Given the description of an element on the screen output the (x, y) to click on. 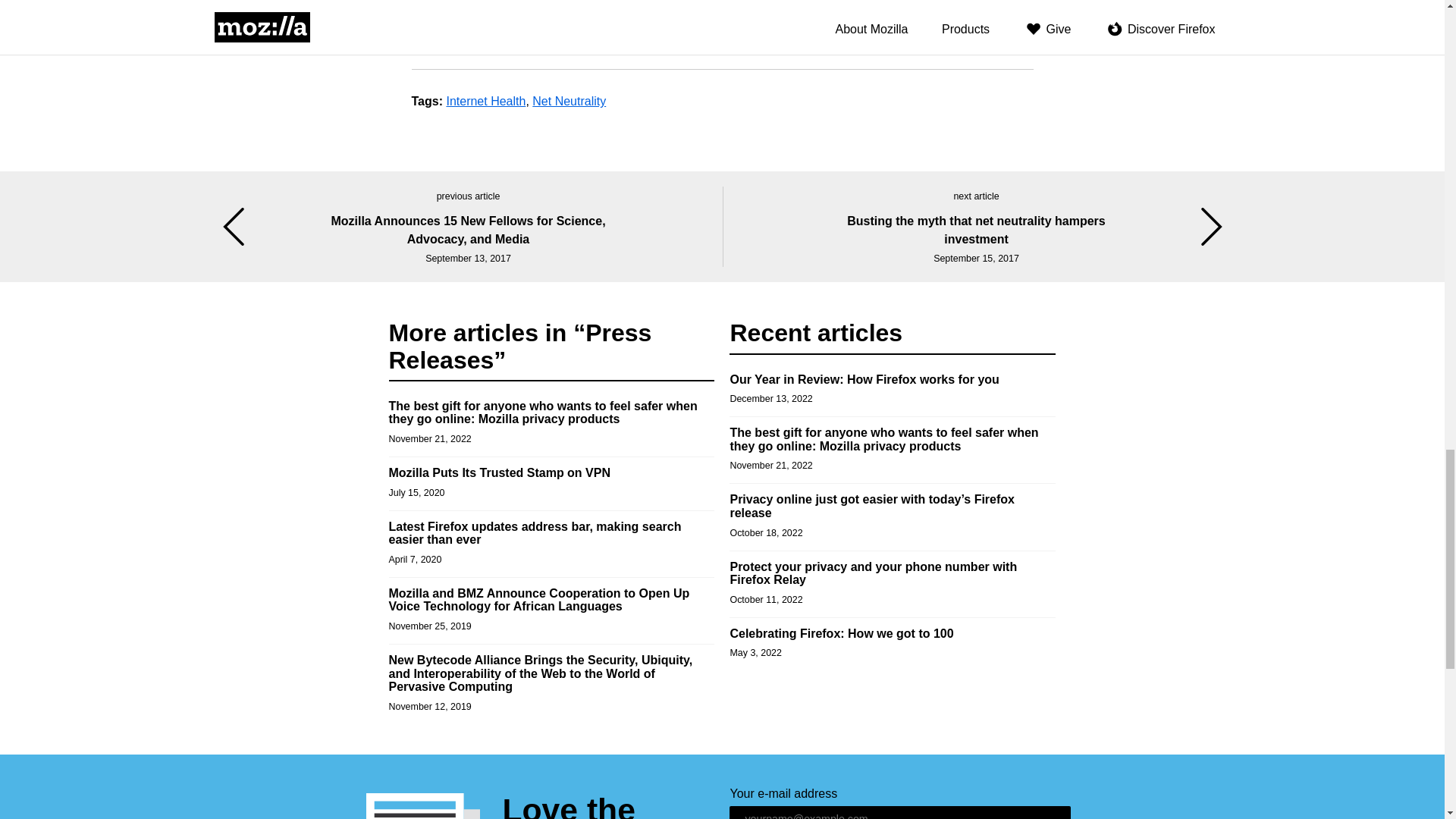
RSVP: The Battle to Save Net Neutrality (524, 29)
Our Year in Review: How Firefox works for you (863, 379)
Celebrating Firefox: How we got to 100 (841, 633)
Mozilla Puts Its Trusted Stamp on VPN (499, 472)
Internet Health (485, 101)
Net Neutrality (568, 101)
